Given the description of an element on the screen output the (x, y) to click on. 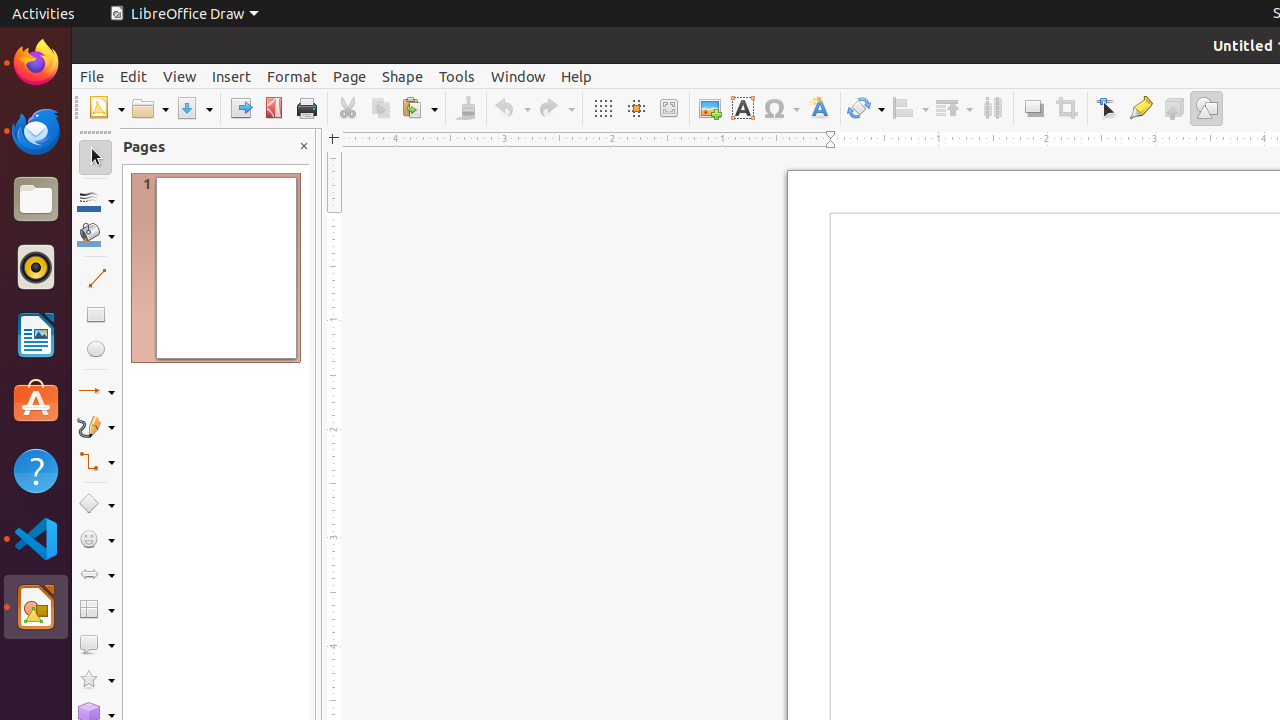
Arrow Shapes Element type: push-button (96, 574)
Edit Element type: menu (133, 76)
Connectors Element type: push-button (96, 461)
LibreOffice Draw Element type: push-button (36, 607)
Redo Element type: push-button (556, 108)
